Given the description of an element on the screen output the (x, y) to click on. 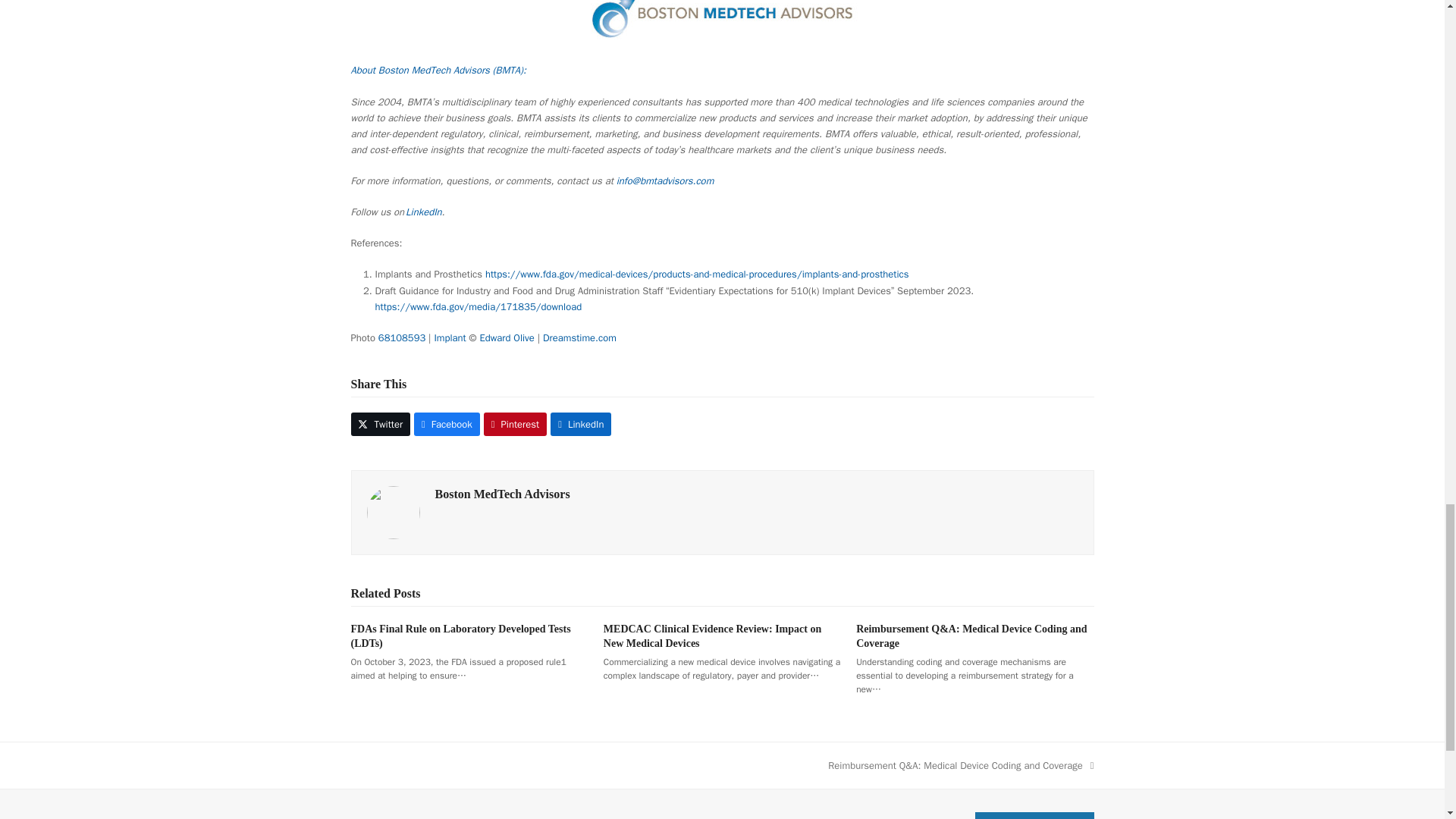
Facebook (446, 423)
Twitter (380, 423)
LinkedIn (424, 211)
Implant (449, 337)
68108593 (401, 337)
Visit Author Page (393, 511)
Dreamstime.com (579, 337)
Visit Author Page (502, 493)
LinkedIn (580, 423)
Edward Olive (506, 337)
